Given the description of an element on the screen output the (x, y) to click on. 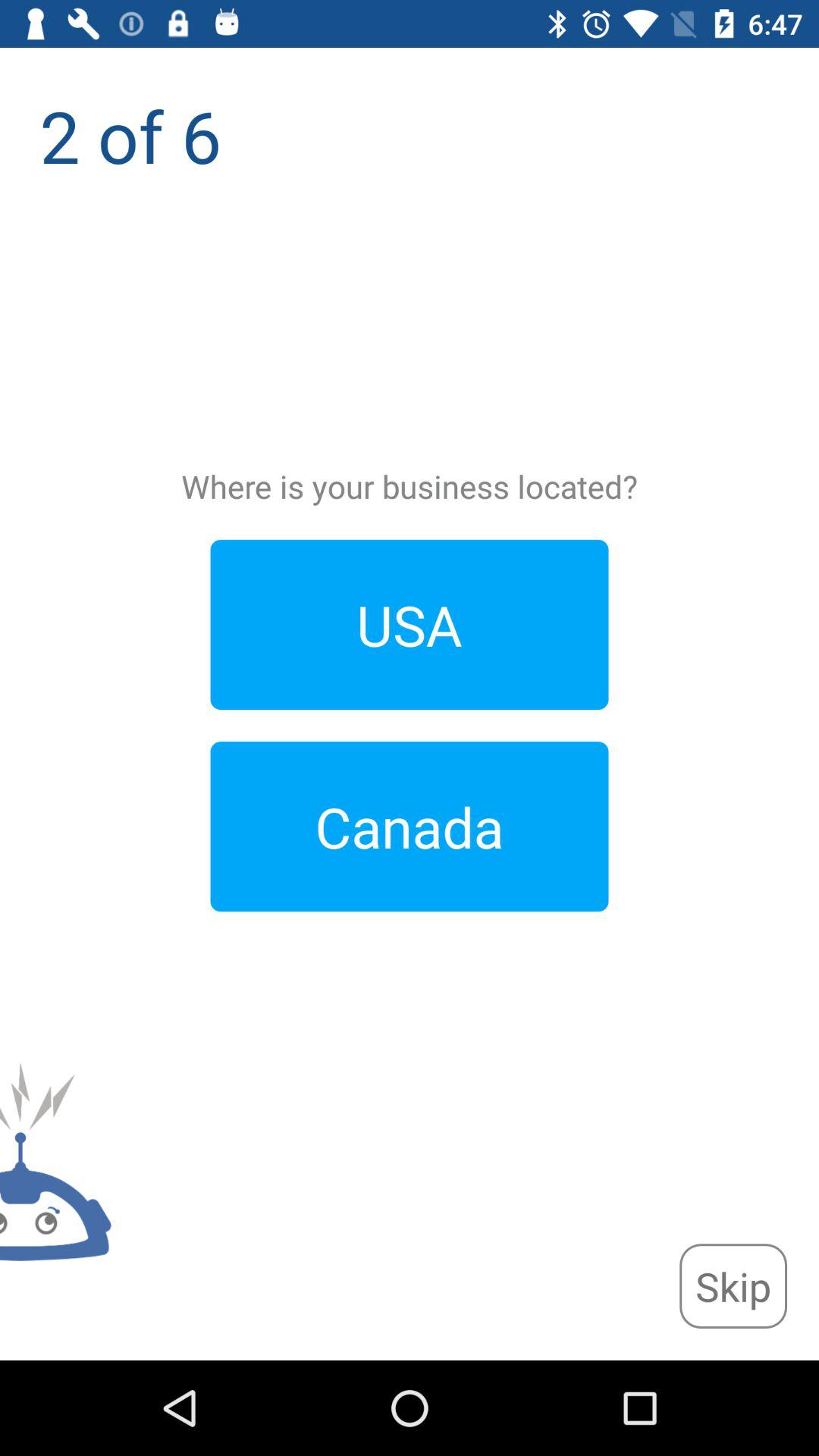
turn off usa (409, 624)
